Given the description of an element on the screen output the (x, y) to click on. 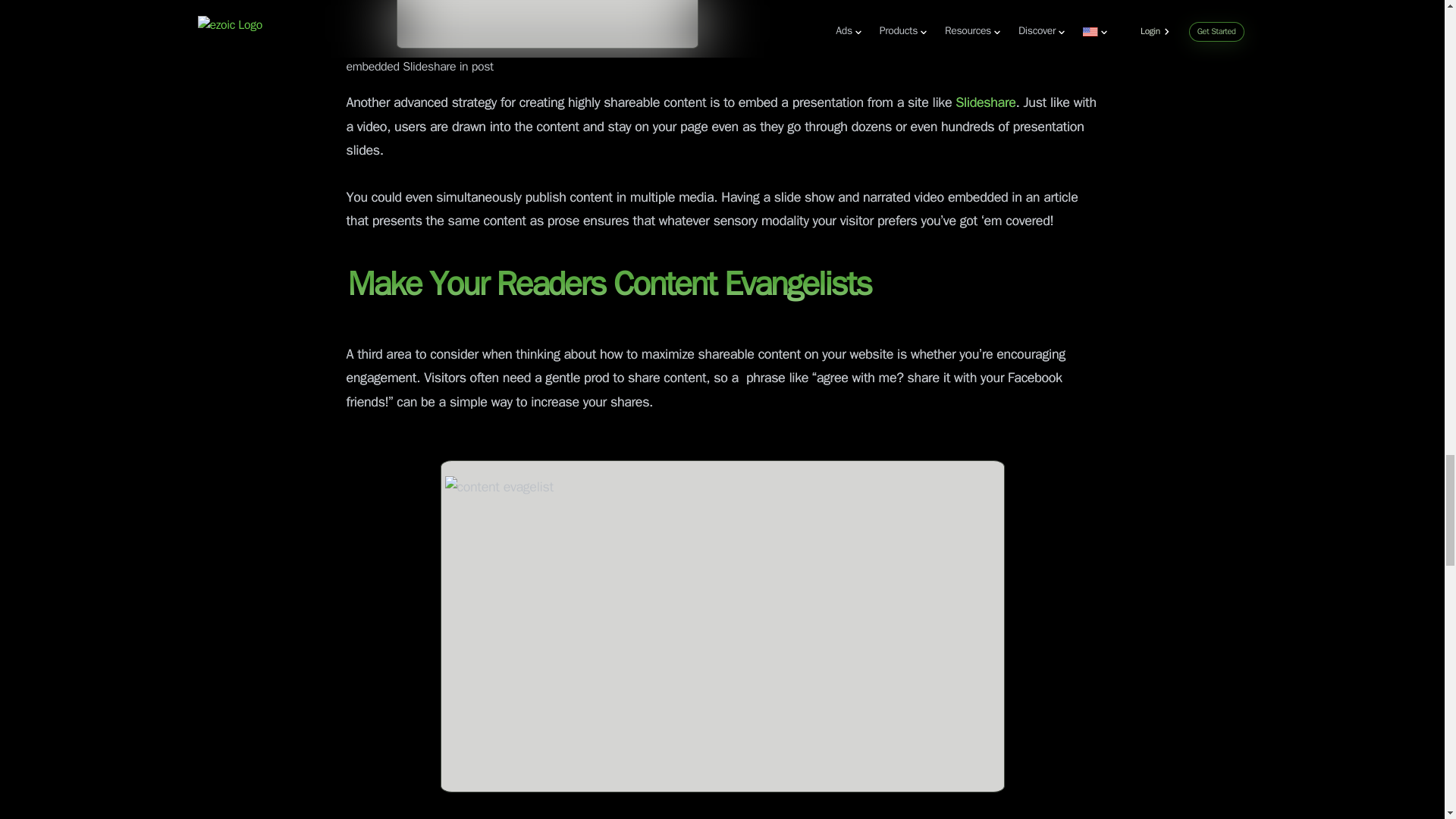
Slideshare (984, 103)
